Given the description of an element on the screen output the (x, y) to click on. 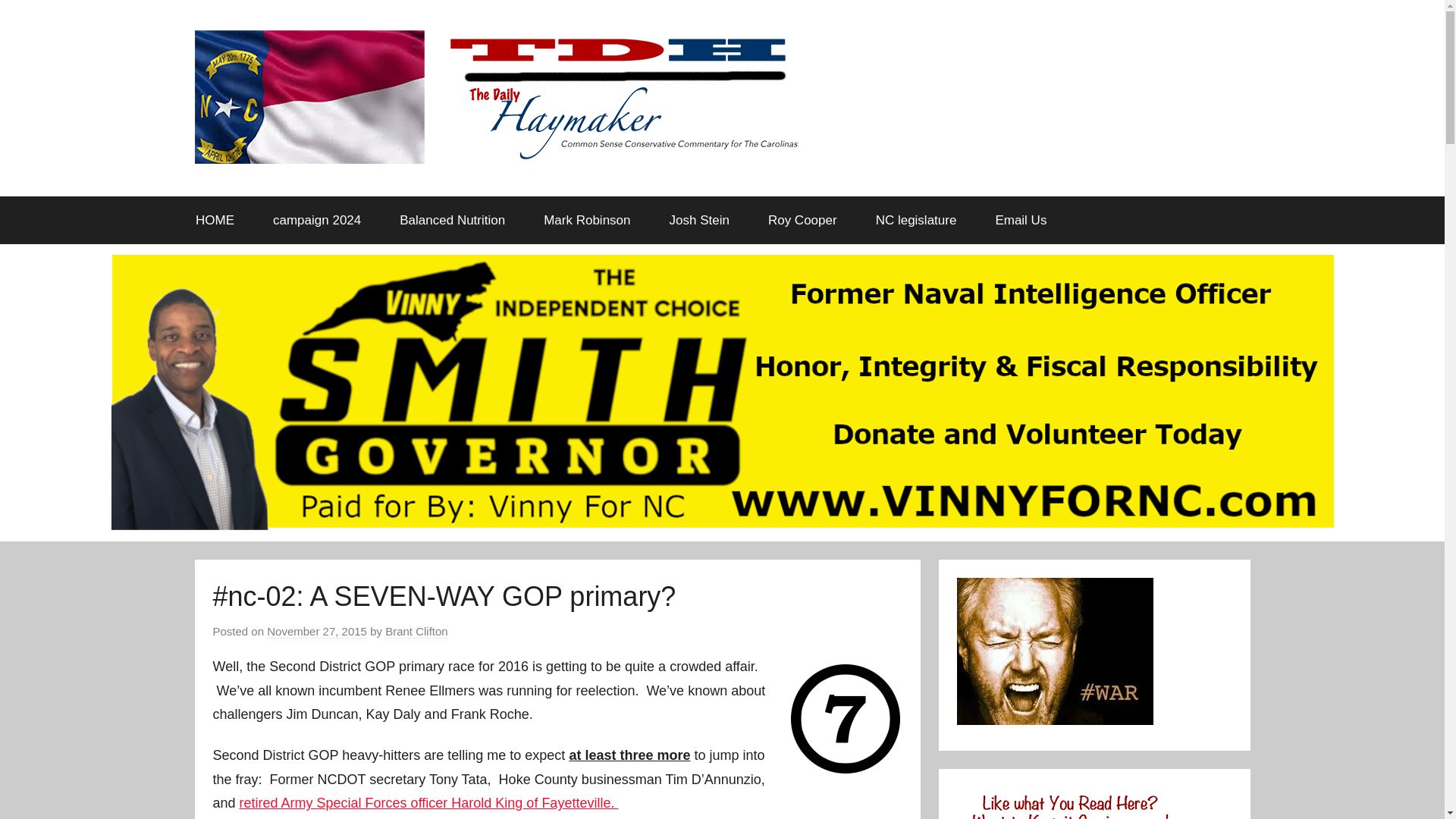
campaign 2024 (316, 219)
NC legislature (915, 219)
November 27, 2015 (316, 631)
View all posts by Brant Clifton (416, 631)
Roy Cooper (802, 219)
Josh Stein (698, 219)
Balanced Nutrition (452, 219)
Brant Clifton (416, 631)
Mark Robinson (586, 219)
Email Us (1020, 219)
